Given the description of an element on the screen output the (x, y) to click on. 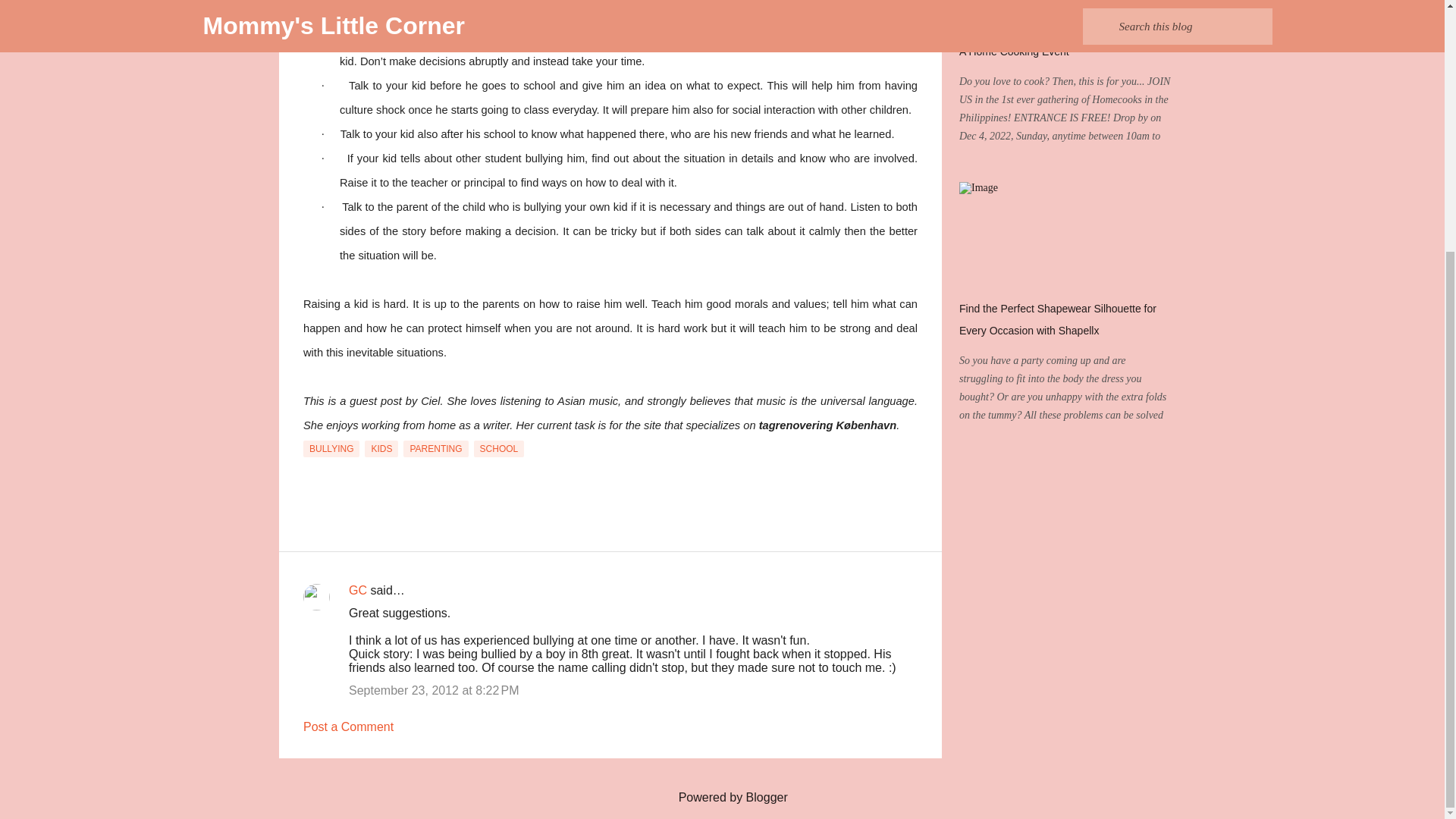
SCHOOL (499, 448)
comment permalink (434, 689)
BULLYING (330, 448)
A Home Cooking Event (1013, 51)
PARENTING (435, 448)
Post a Comment (347, 726)
GC (357, 590)
Powered by Blogger (721, 797)
